Given the description of an element on the screen output the (x, y) to click on. 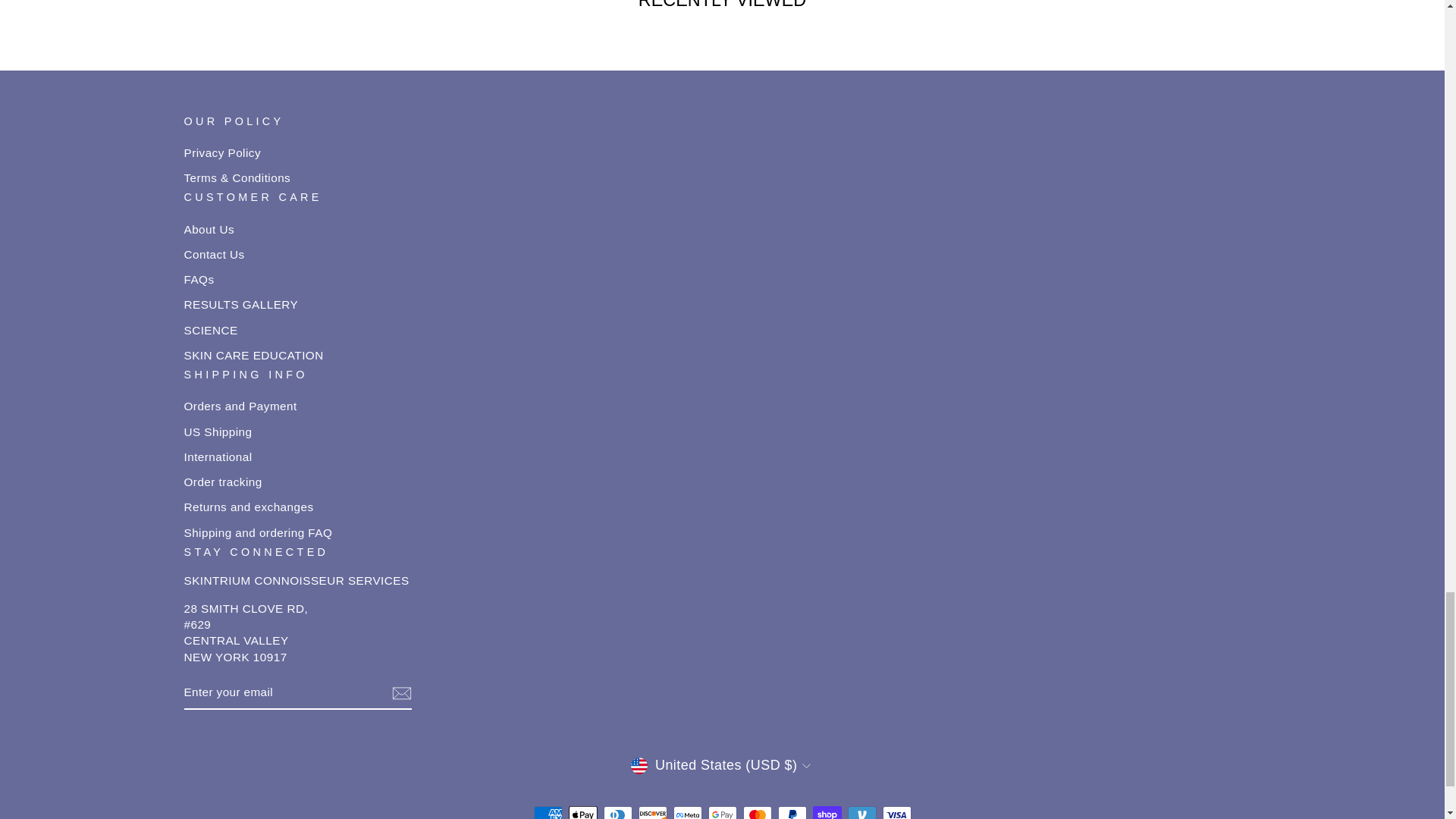
American Express (548, 812)
icon-email (400, 693)
Diners Club (617, 812)
Discover (652, 812)
Meta Pay (686, 812)
Apple Pay (582, 812)
